Given the description of an element on the screen output the (x, y) to click on. 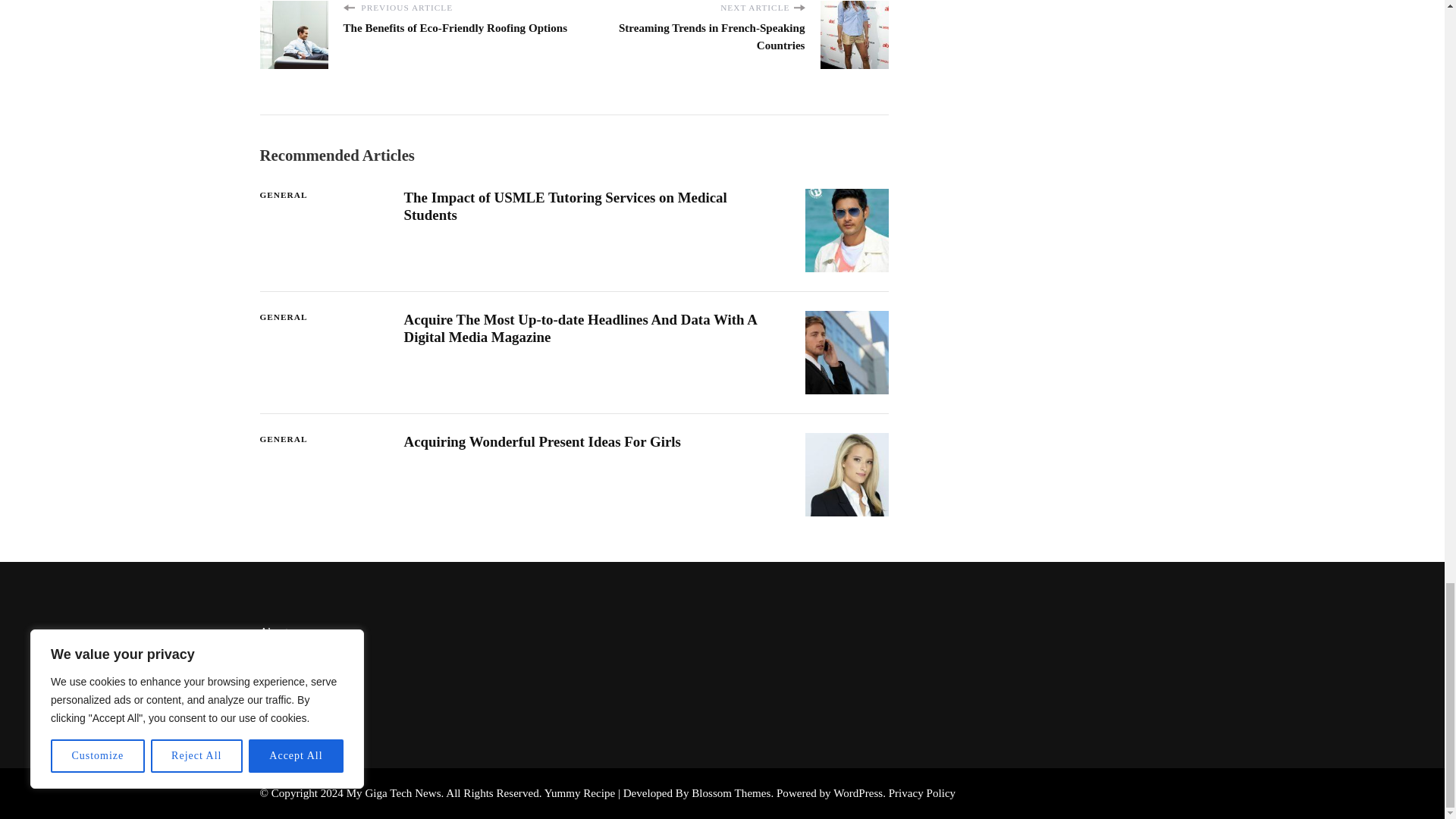
GENERAL (283, 195)
